Given the description of an element on the screen output the (x, y) to click on. 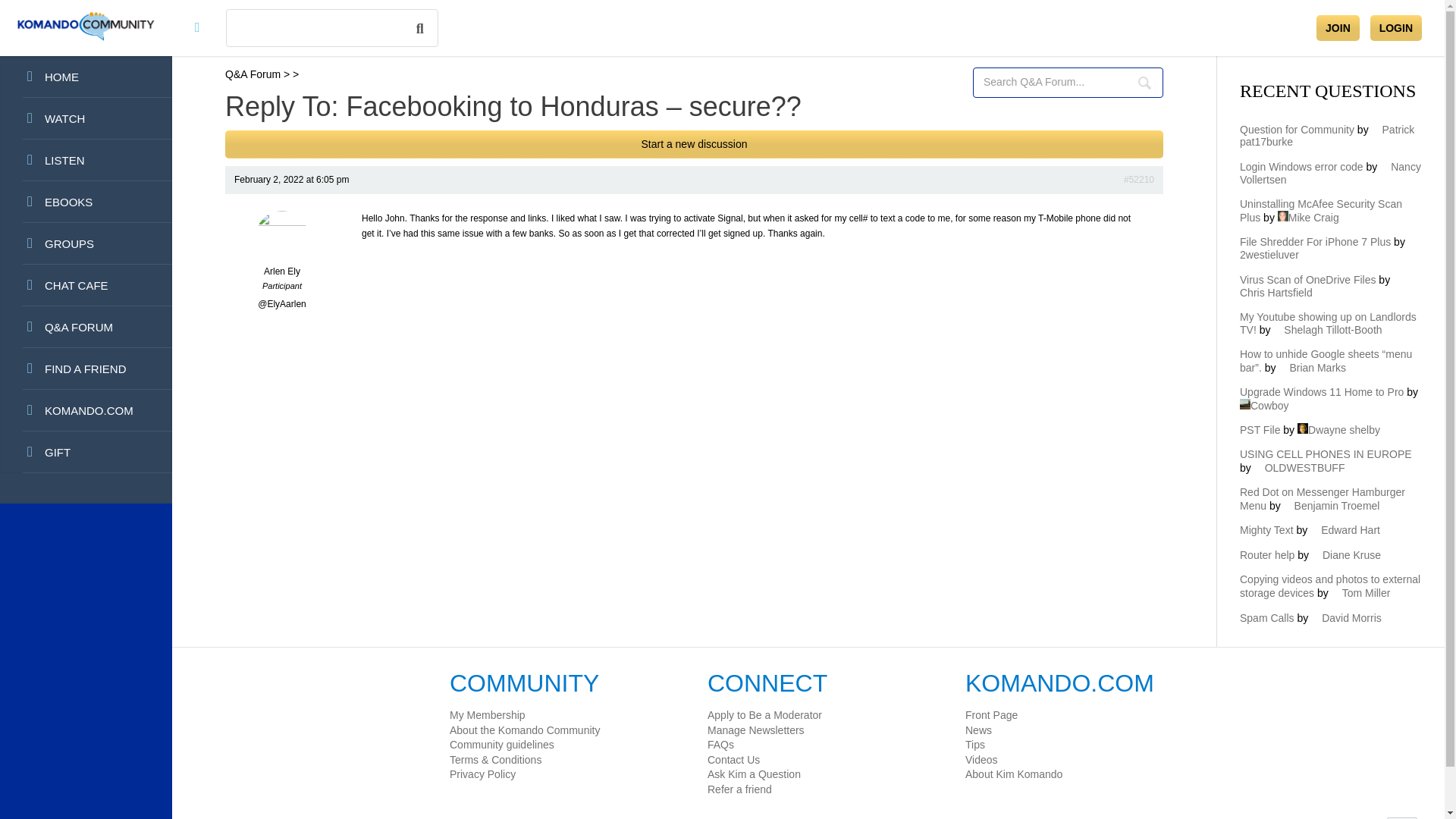
View Mike Craig's profile (1308, 217)
View Diane Kruse's profile (1345, 554)
View Brian Marks's profile (1311, 367)
GIFT (85, 452)
FIND A FRIEND (85, 368)
CHAT CAFE (85, 285)
HOME (85, 76)
View Benjamin Troemel's profile (1332, 505)
View Chris Hartsfield's profile (1321, 285)
View 2westieluver's profile (1329, 248)
